Given the description of an element on the screen output the (x, y) to click on. 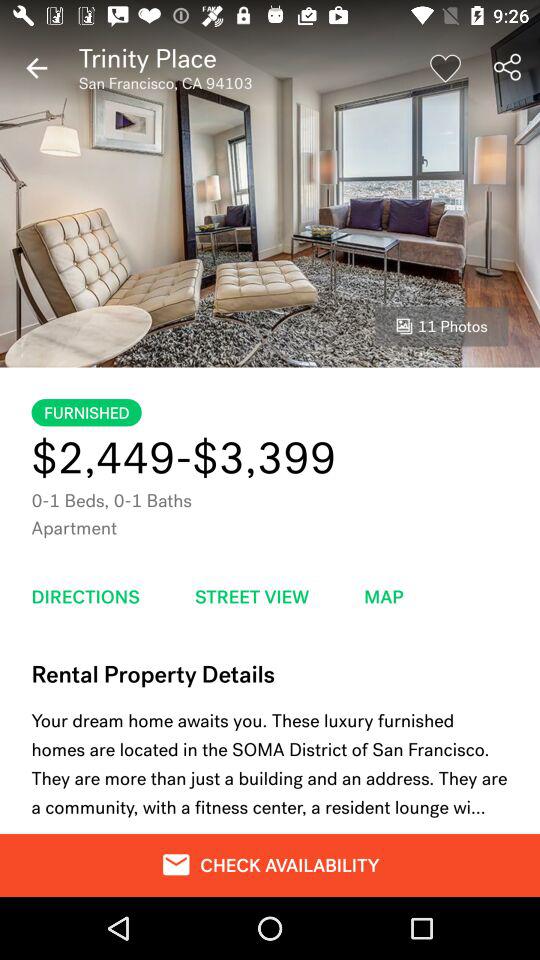
go back (36, 68)
